Given the description of an element on the screen output the (x, y) to click on. 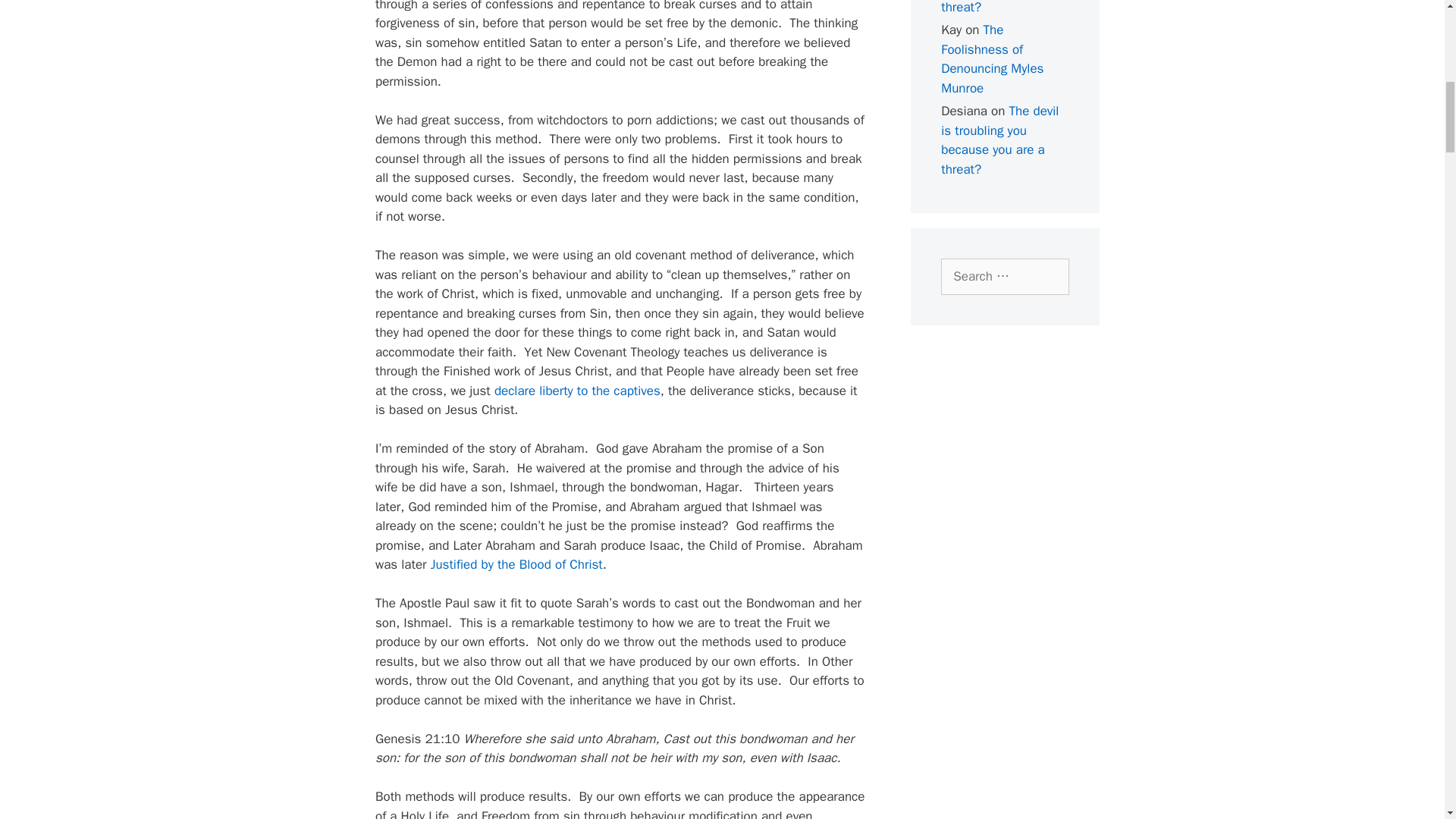
Search for: (1004, 276)
Justified by the Blood of Christ (516, 564)
declare liberty to the captives (578, 390)
declare liberty to the captives (578, 390)
